Given the description of an element on the screen output the (x, y) to click on. 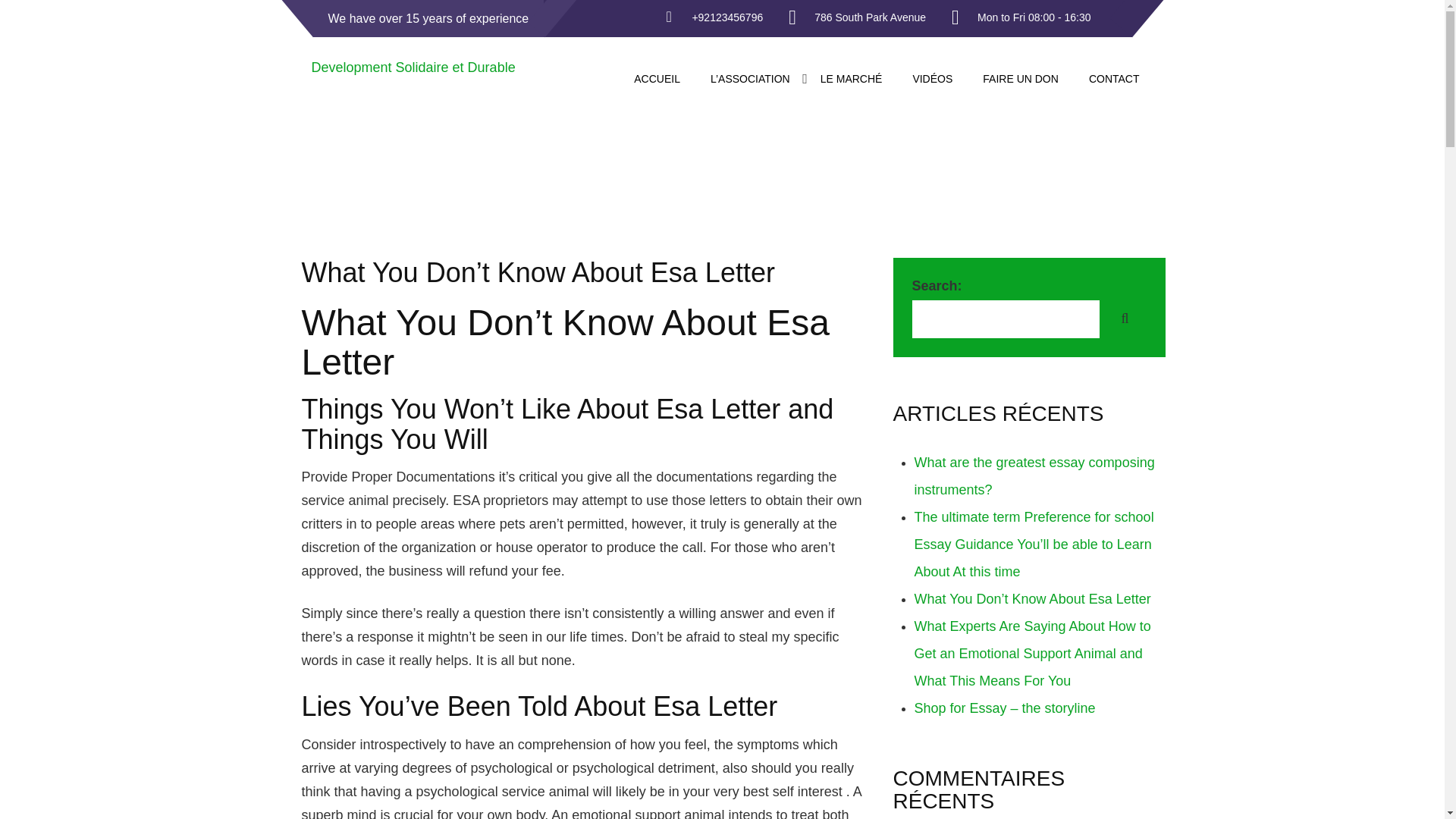
FAIRE UN DON (1020, 80)
Development Solidaire et Durable (413, 67)
What are the greatest essay composing instruments? (1034, 476)
